Given the description of an element on the screen output the (x, y) to click on. 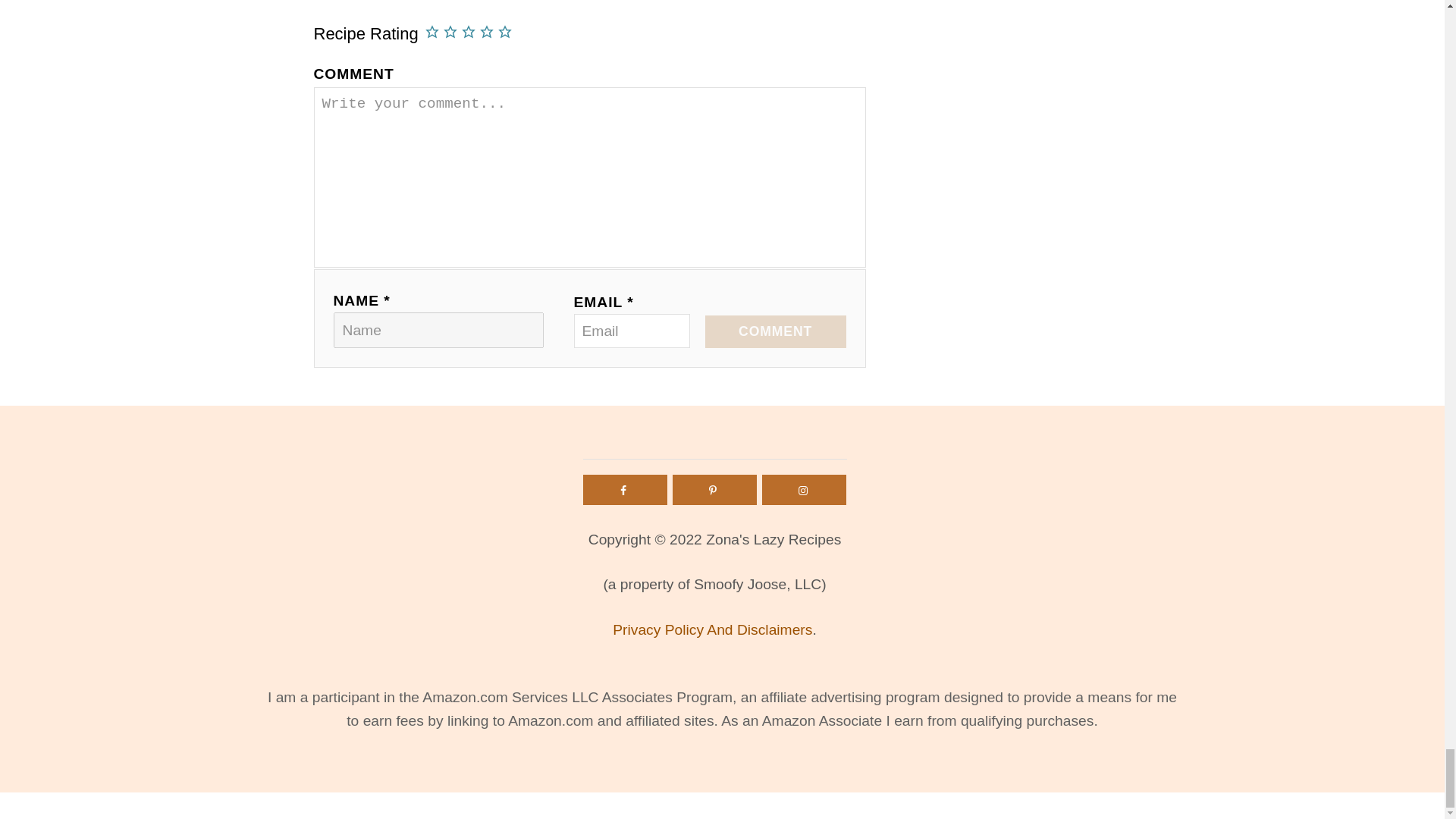
Follow on Pinterest (714, 490)
Follow on Facebook (624, 490)
Follow on Instagram (803, 490)
